Given the description of an element on the screen output the (x, y) to click on. 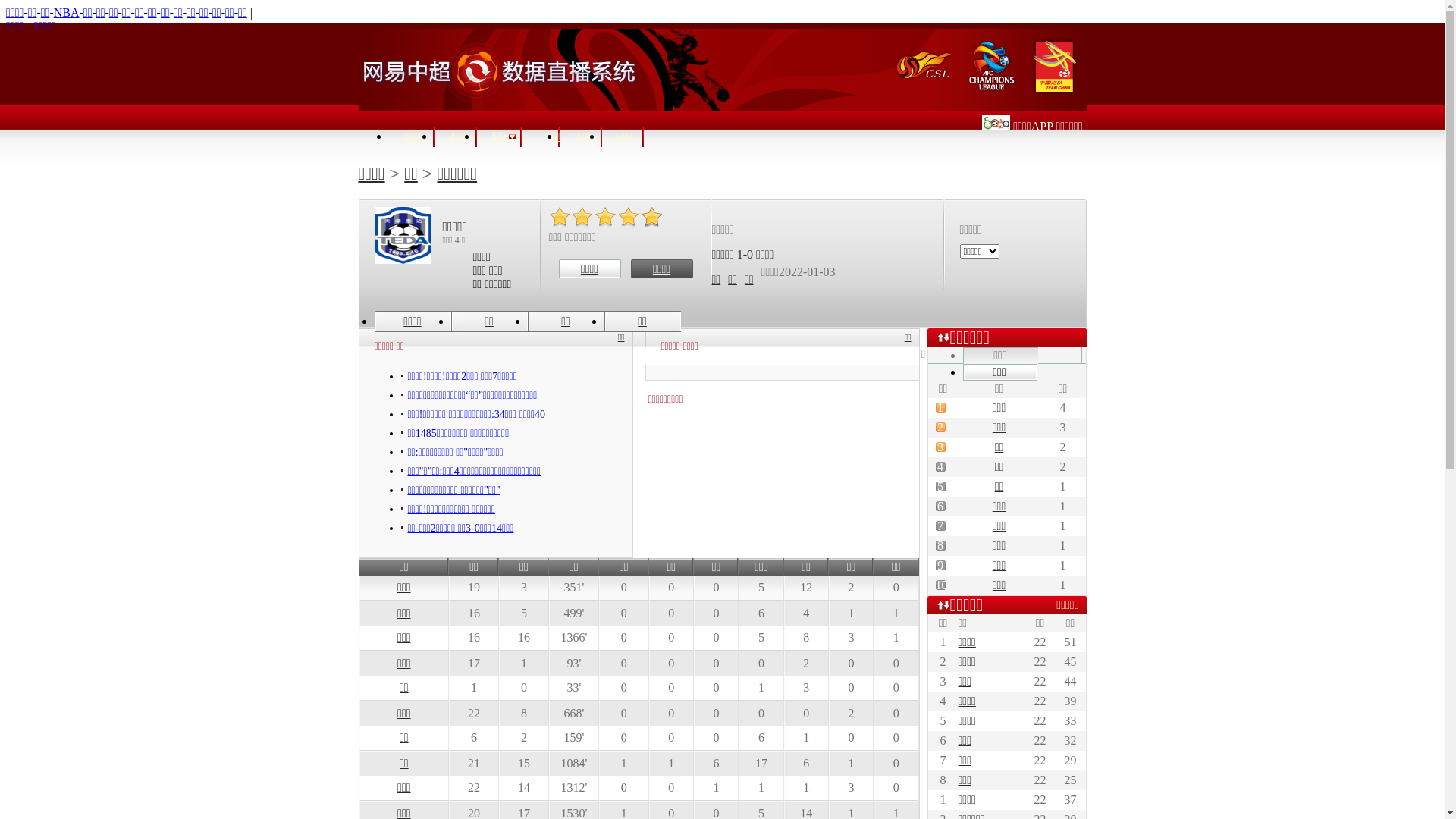
NBA Element type: text (66, 12)
